Given the description of an element on the screen output the (x, y) to click on. 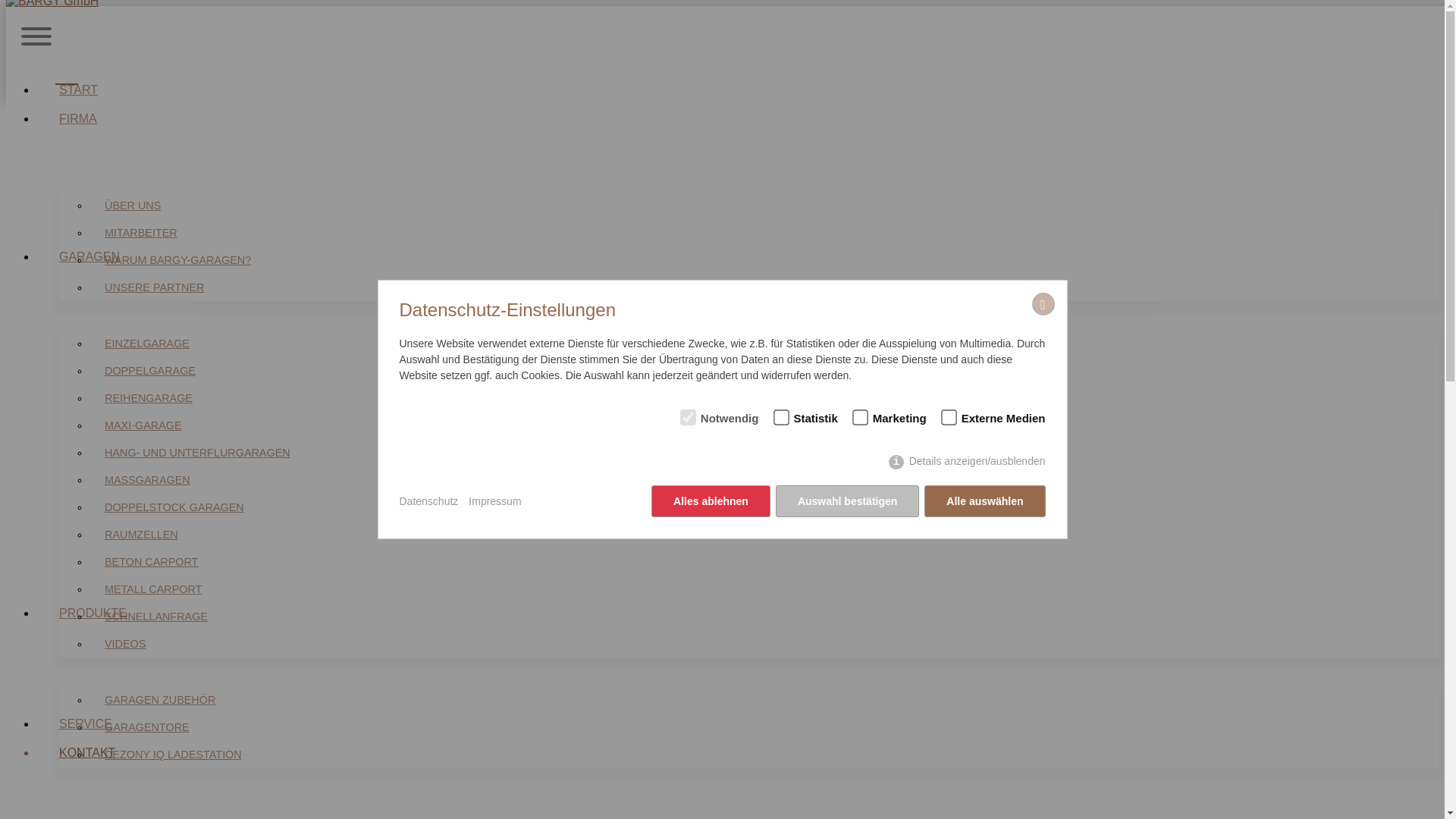
Datenschutz Element type: text (428, 501)
MAXI-GARAGE Element type: text (143, 425)
REIHENGARAGE Element type: text (148, 398)
DOPPELGARAGE Element type: text (149, 370)
METALL CARPORT Element type: text (152, 589)
START Element type: text (78, 89)
SERVICE Element type: text (85, 723)
Details anzeigen/ausblenden Element type: text (966, 462)
WARUM BARGY-GARAGEN? Element type: text (177, 260)
FIRMA Element type: text (78, 118)
MASSGARAGEN Element type: text (147, 479)
PRODUKTE Element type: text (92, 612)
Schliessen Element type: text (488, 440)
GARAGEN Element type: text (89, 256)
VIDEOS Element type: text (124, 643)
DEZONY IQ LADESTATION Element type: text (172, 754)
RAUMZELLEN Element type: text (141, 534)
DOPPELSTOCK GARAGEN Element type: text (174, 507)
GARAGENTORE Element type: text (146, 727)
Weitere Informationen Element type: text (103, 421)
MITARBEITER Element type: text (140, 232)
SCHNELLANFRAGE Element type: text (155, 616)
UNSERE PARTNER Element type: text (153, 287)
Impressum Element type: text (494, 501)
HANG- UND UNTERFLURGARAGEN Element type: text (197, 452)
KONTAKT Element type: text (87, 752)
Alles ablehnen Element type: text (710, 501)
EINZELGARAGE Element type: text (146, 343)
BETON CARPORT Element type: text (150, 561)
